Given the description of an element on the screen output the (x, y) to click on. 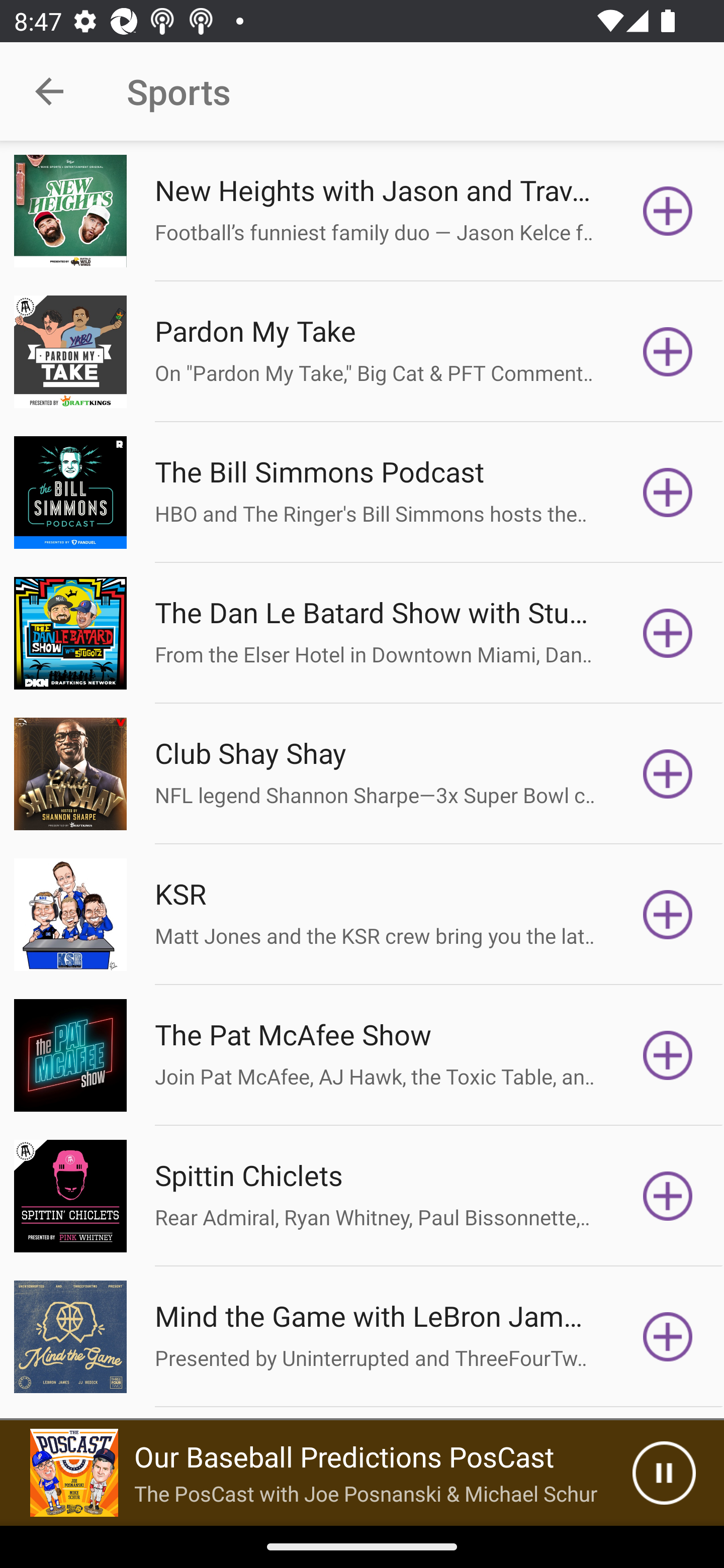
Navigate up (49, 91)
Subscribe (667, 211)
Subscribe (667, 350)
Subscribe (667, 491)
Subscribe (667, 633)
Subscribe (667, 773)
Subscribe (667, 913)
Subscribe (667, 1054)
Subscribe (667, 1195)
Subscribe (667, 1336)
Pause (663, 1472)
